Given the description of an element on the screen output the (x, y) to click on. 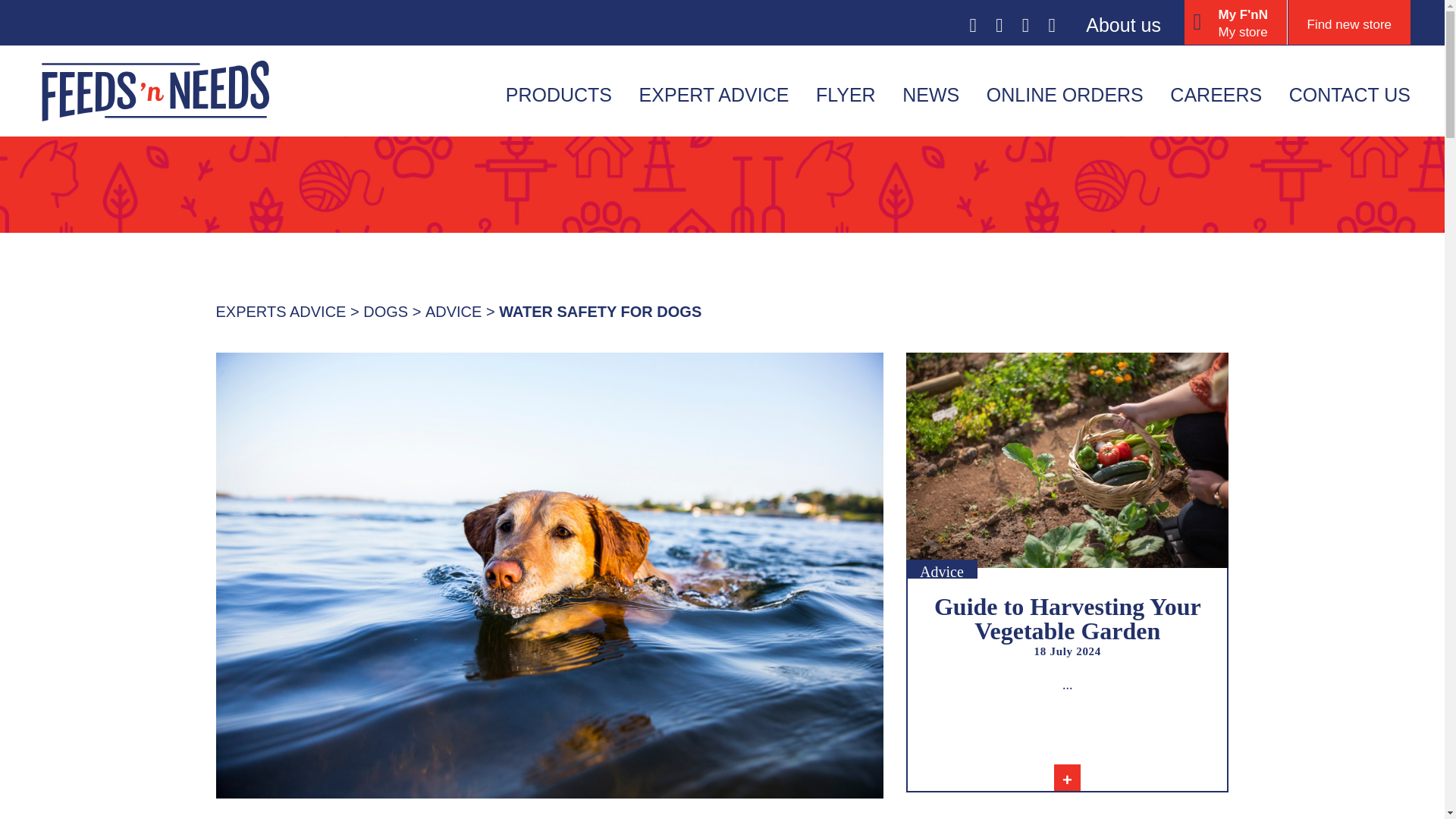
CAREERS (1216, 94)
DOGS (384, 311)
FLYER (845, 94)
EXPERTS ADVICE (280, 311)
ONLINE ORDERS (1064, 94)
Find new store (1348, 22)
About us (1123, 24)
ADVICE (453, 311)
EXPERT ADVICE (714, 94)
CONTACT US (1349, 94)
Guide to Harvesting Your Vegetable Garden (1067, 618)
NEWS (1236, 22)
PRODUCTS (930, 94)
